Given the description of an element on the screen output the (x, y) to click on. 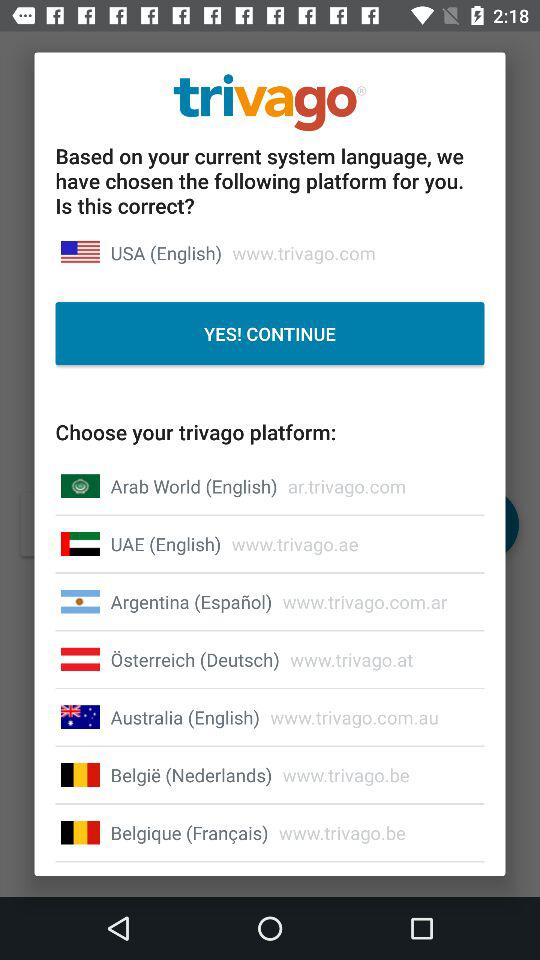
choose icon below the arab world (english) icon (165, 543)
